Given the description of an element on the screen output the (x, y) to click on. 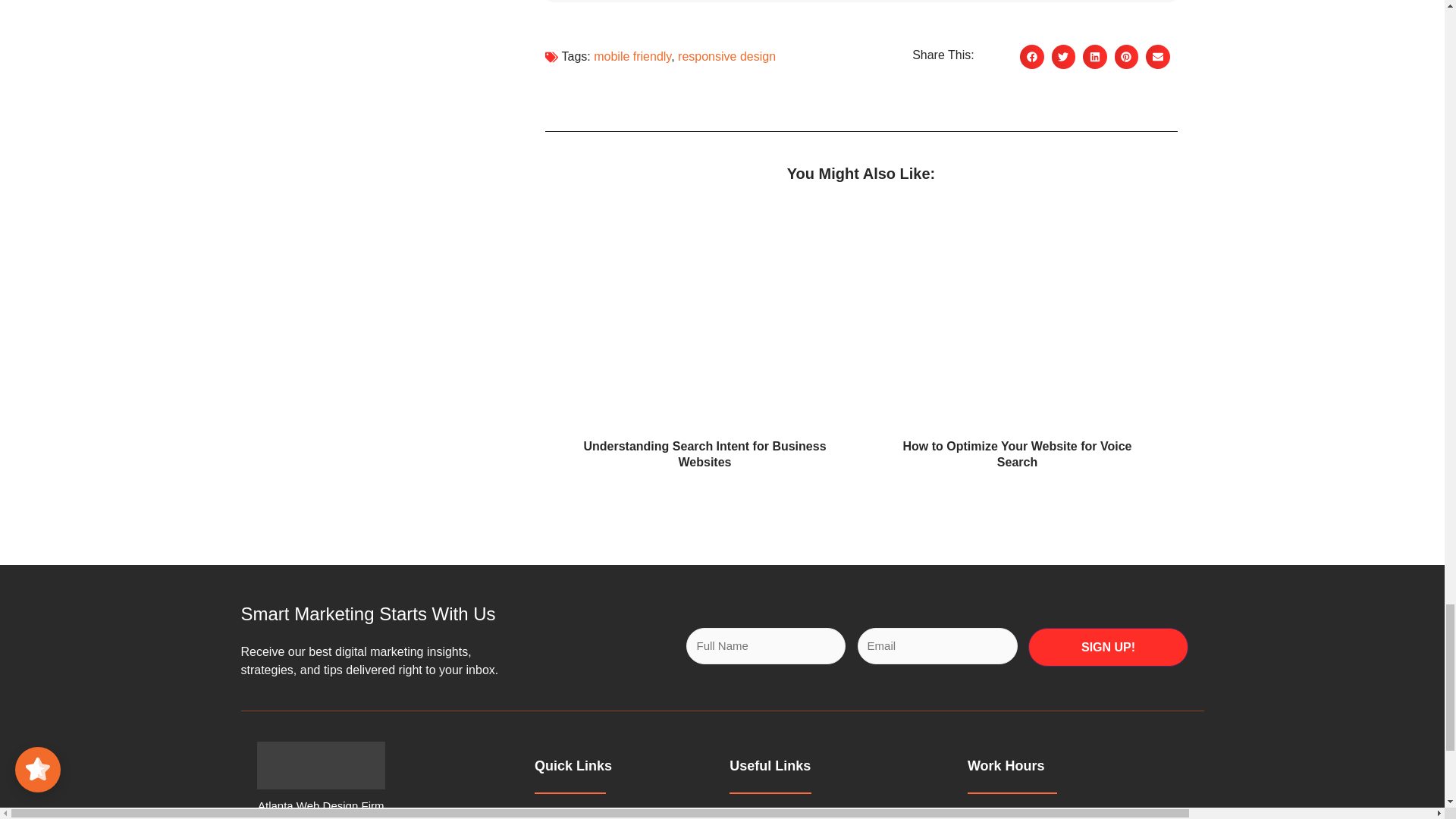
How to Optimize Your Website for Voice Search 5 (1016, 321)
Understanding Search Intent for Business Websites 4 (703, 321)
Sign Up! (1108, 647)
